Given the description of an element on the screen output the (x, y) to click on. 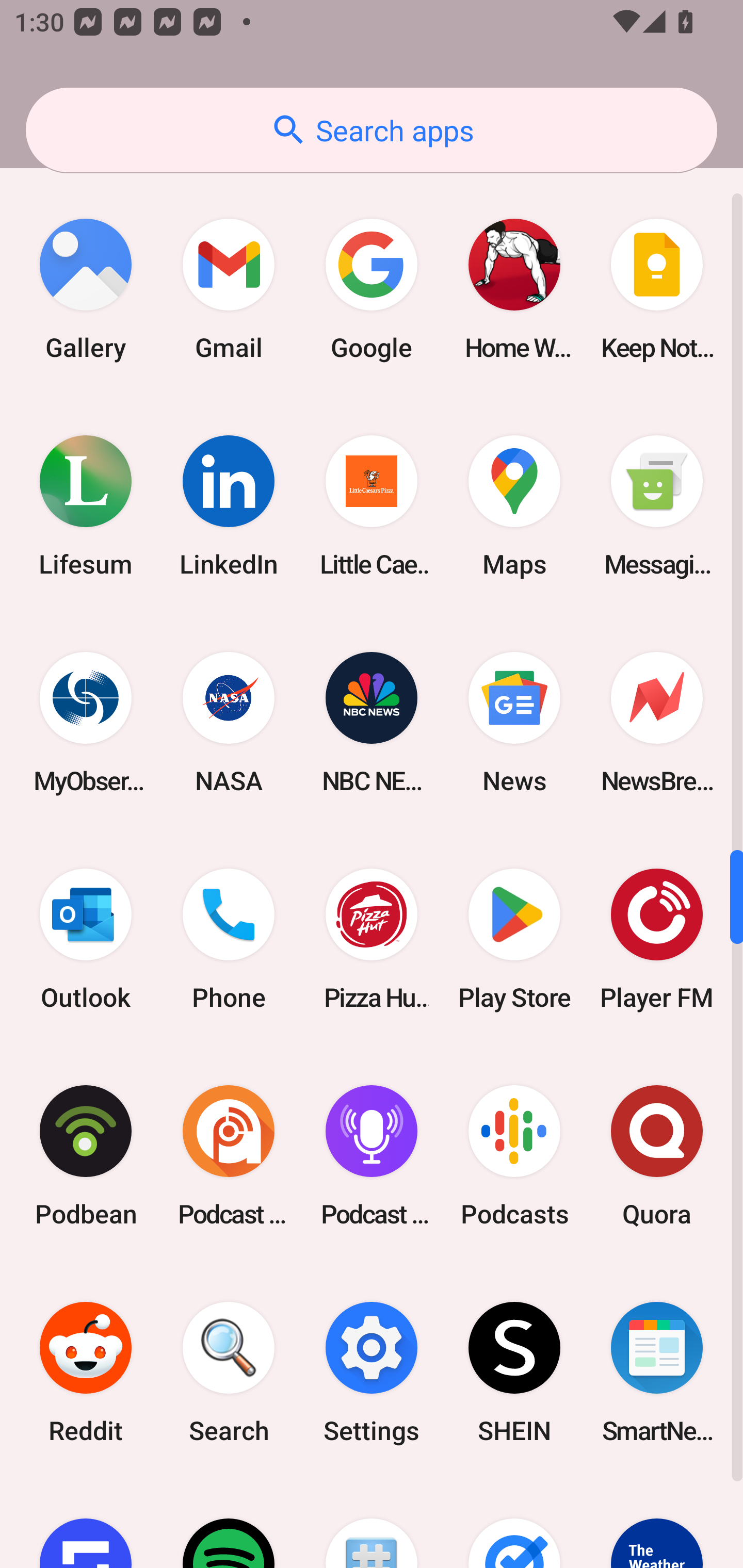
  Search apps (371, 130)
Gallery (85, 289)
Gmail (228, 289)
Google (371, 289)
Home Workout (514, 289)
Keep Notes (656, 289)
Lifesum (85, 506)
LinkedIn (228, 506)
Little Caesars Pizza (371, 506)
Maps (514, 506)
Messaging (656, 506)
MyObservatory (85, 722)
NASA (228, 722)
NBC NEWS (371, 722)
News (514, 722)
NewsBreak (656, 722)
Outlook (85, 939)
Phone (228, 939)
Pizza Hut HK & Macau (371, 939)
Play Store (514, 939)
Player FM (656, 939)
Podbean (85, 1155)
Podcast Addict (228, 1155)
Podcast Player (371, 1155)
Podcasts (514, 1155)
Quora (656, 1155)
Reddit (85, 1371)
Search (228, 1371)
Settings (371, 1371)
SHEIN (514, 1371)
SmartNews (656, 1371)
Sofascore (85, 1524)
Spotify (228, 1524)
Superuser (371, 1524)
Tasks (514, 1524)
The Weather Channel (656, 1524)
